Given the description of an element on the screen output the (x, y) to click on. 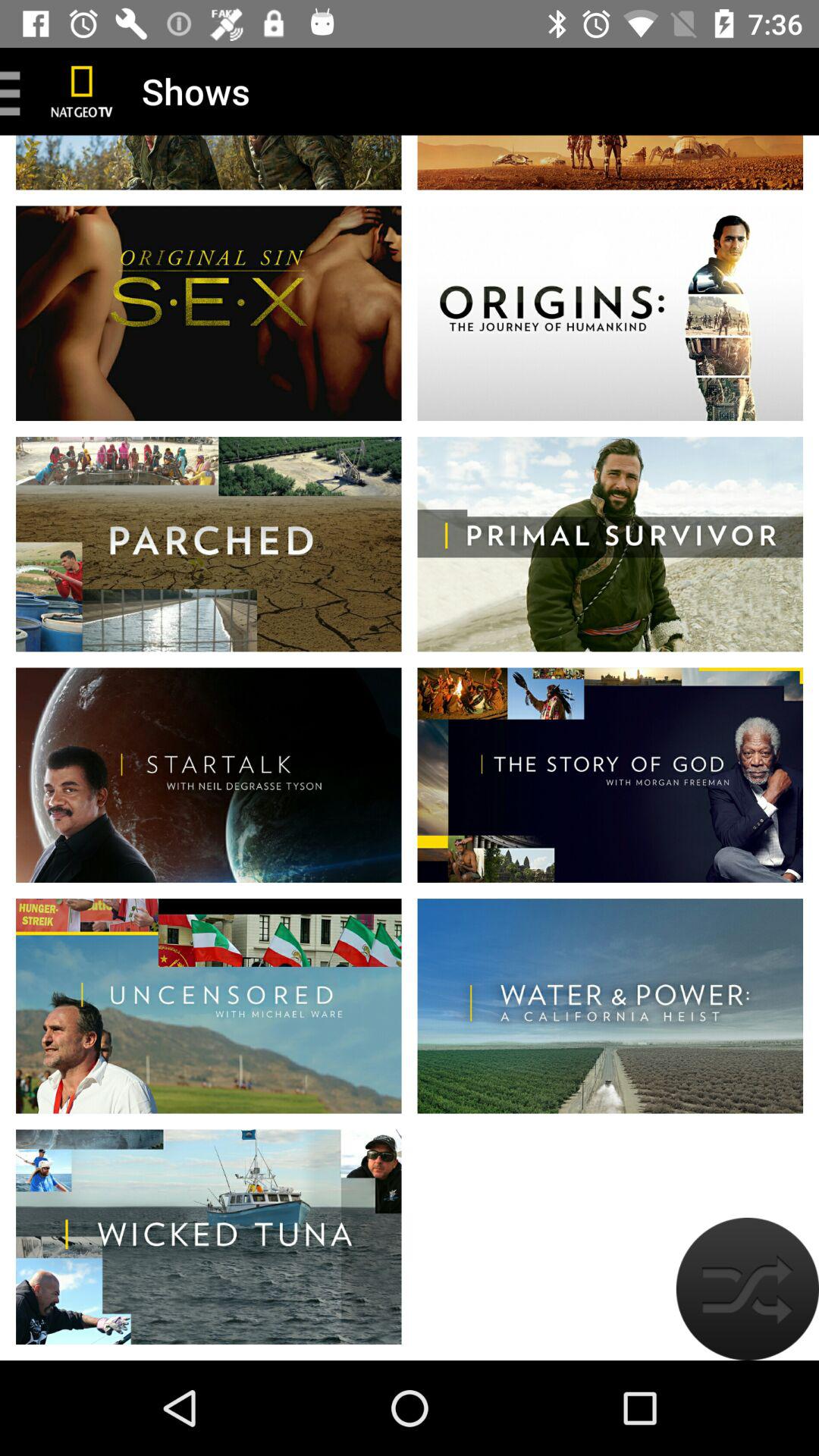
home button (81, 91)
